Given the description of an element on the screen output the (x, y) to click on. 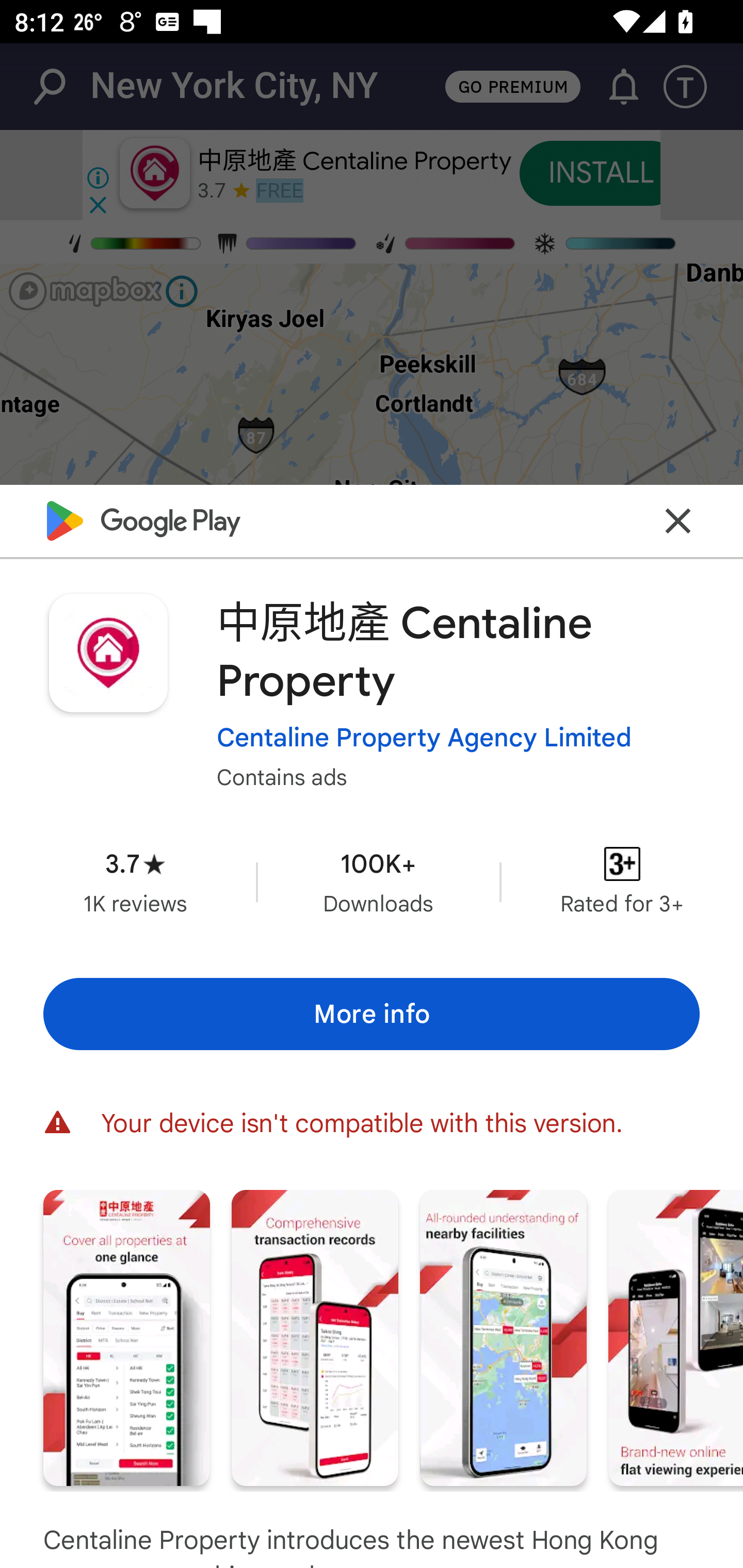
Close (677, 520)
Centaline Property Agency Limited (423, 737)
More info (371, 1014)
Screenshot "1" of "8" (126, 1338)
Screenshot "2" of "8" (314, 1338)
Screenshot "3" of "8" (502, 1338)
Screenshot "4" of "8" (675, 1338)
